Given the description of an element on the screen output the (x, y) to click on. 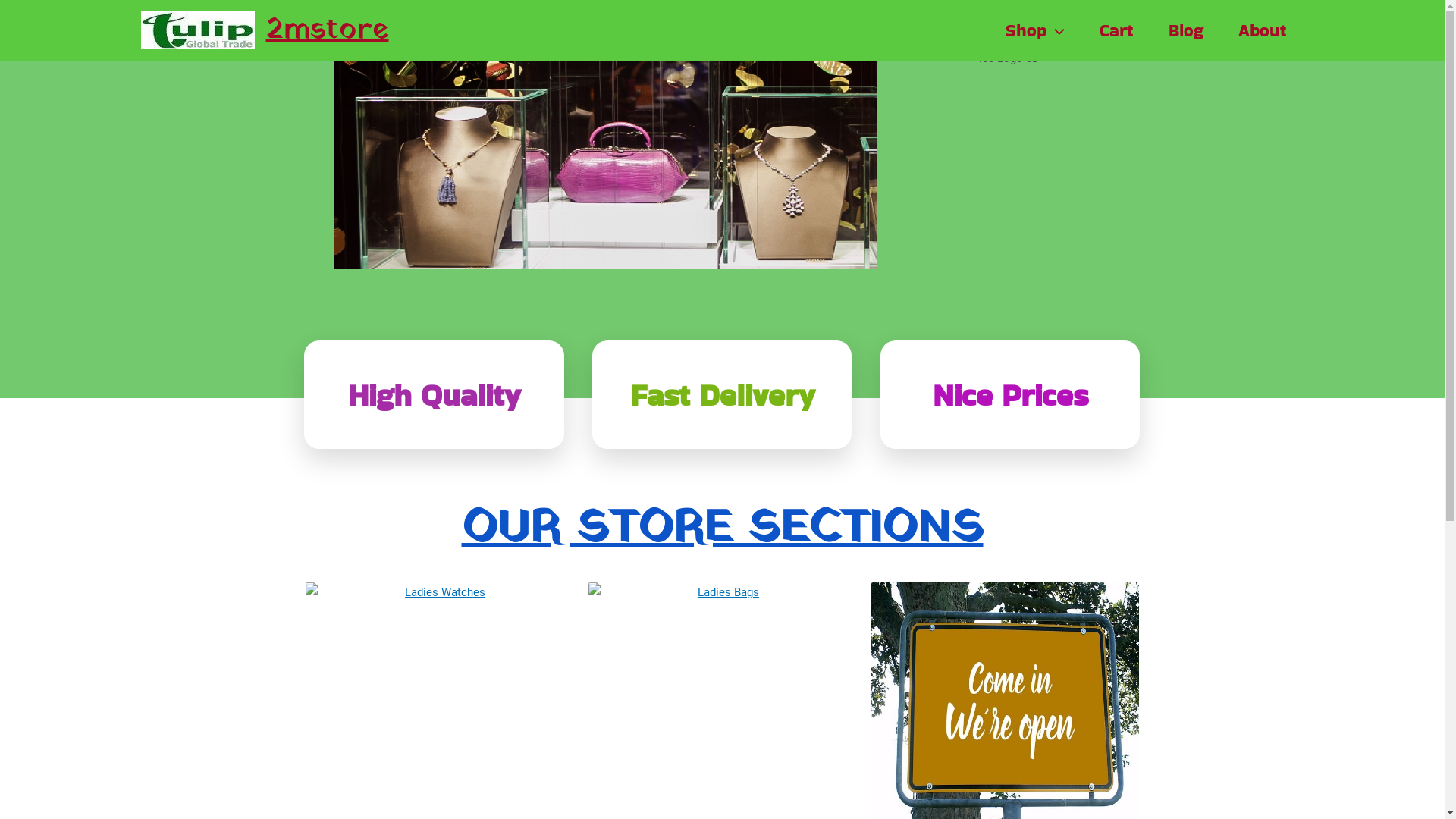
OUR STORE SECTIONS Element type: text (721, 529)
Shop Element type: text (1035, 30)
About Element type: text (1262, 30)
Blog Element type: text (1185, 30)
Cart Element type: text (1115, 30)
2mstore Element type: text (326, 29)
Jewelry Shop Resized Element type: hover (605, 158)
